Given the description of an element on the screen output the (x, y) to click on. 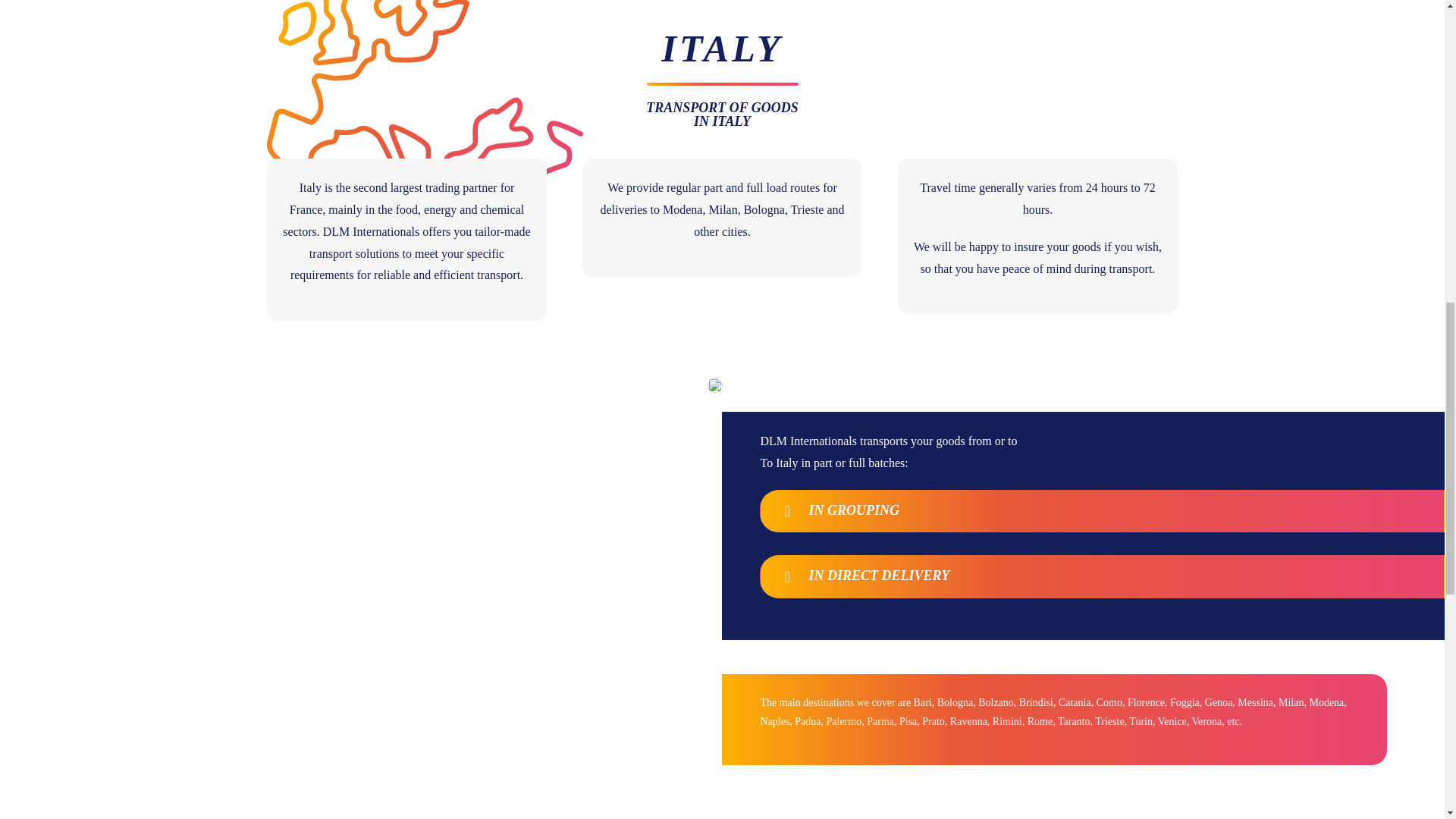
IN GROUPING (1102, 510)
Europe grand (424, 98)
DLM (714, 385)
